Given the description of an element on the screen output the (x, y) to click on. 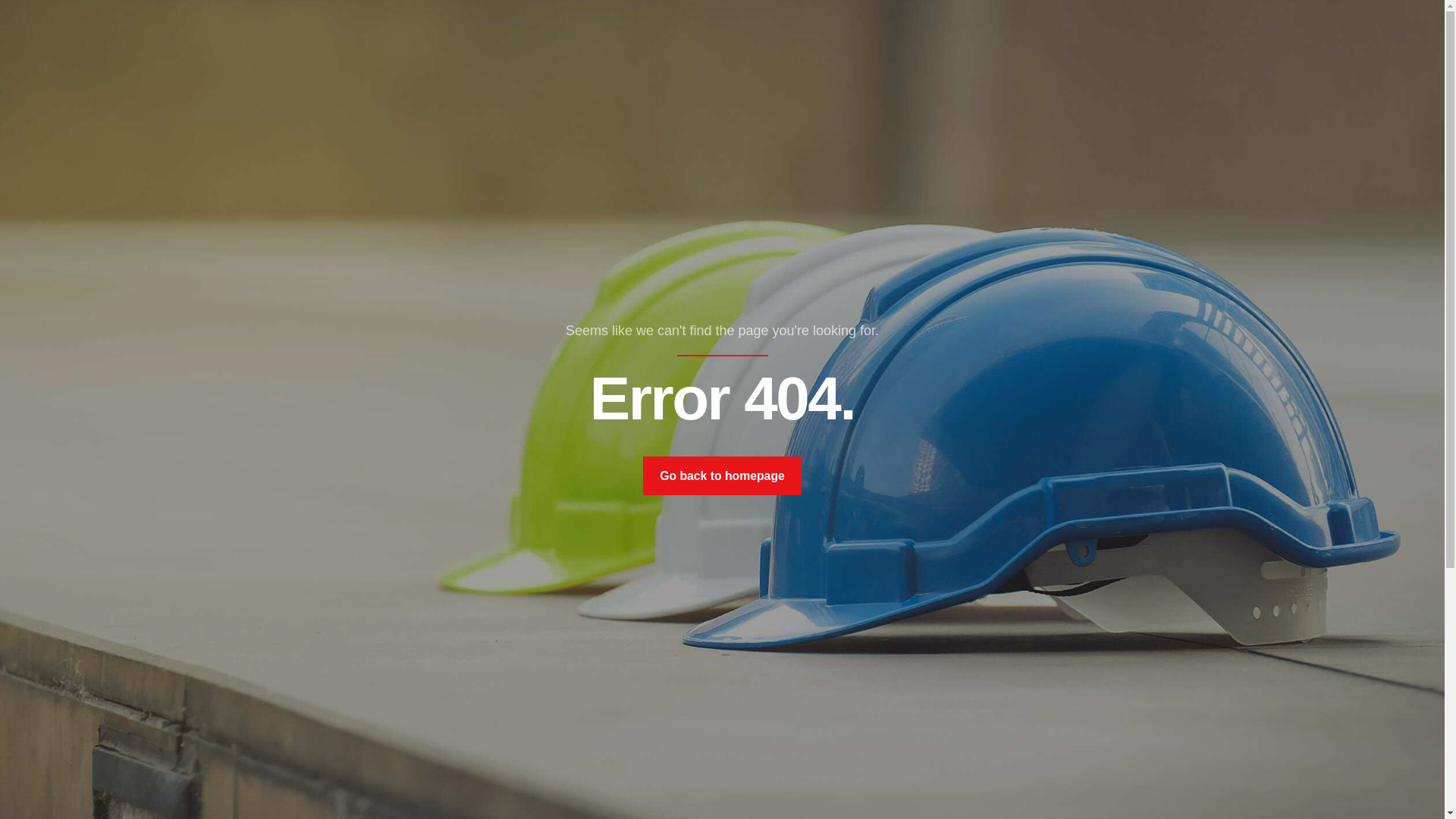
Go back to homepage (722, 476)
